Given the description of an element on the screen output the (x, y) to click on. 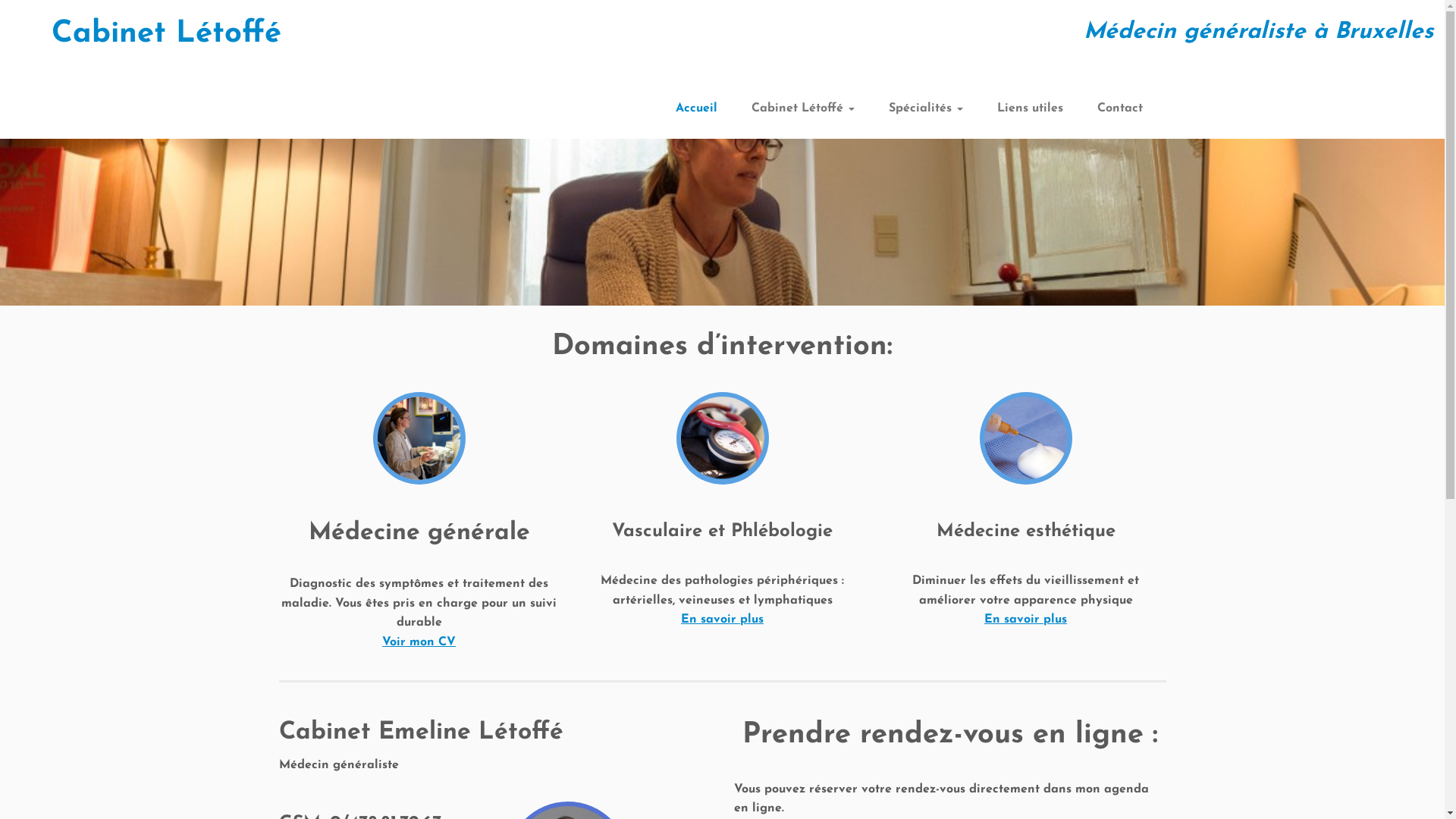
picto5 Element type: hover (1025, 438)
En savoir plus Element type: text (721, 619)
Accueil Element type: text (701, 108)
Contact Element type: text (1112, 108)
Voir mon CV Element type: text (418, 642)
Liens utiles Element type: text (1030, 108)
picto2 Element type: hover (722, 438)
picto3 Element type: hover (419, 438)
En savoir plus Element type: text (1025, 619)
